Given the description of an element on the screen output the (x, y) to click on. 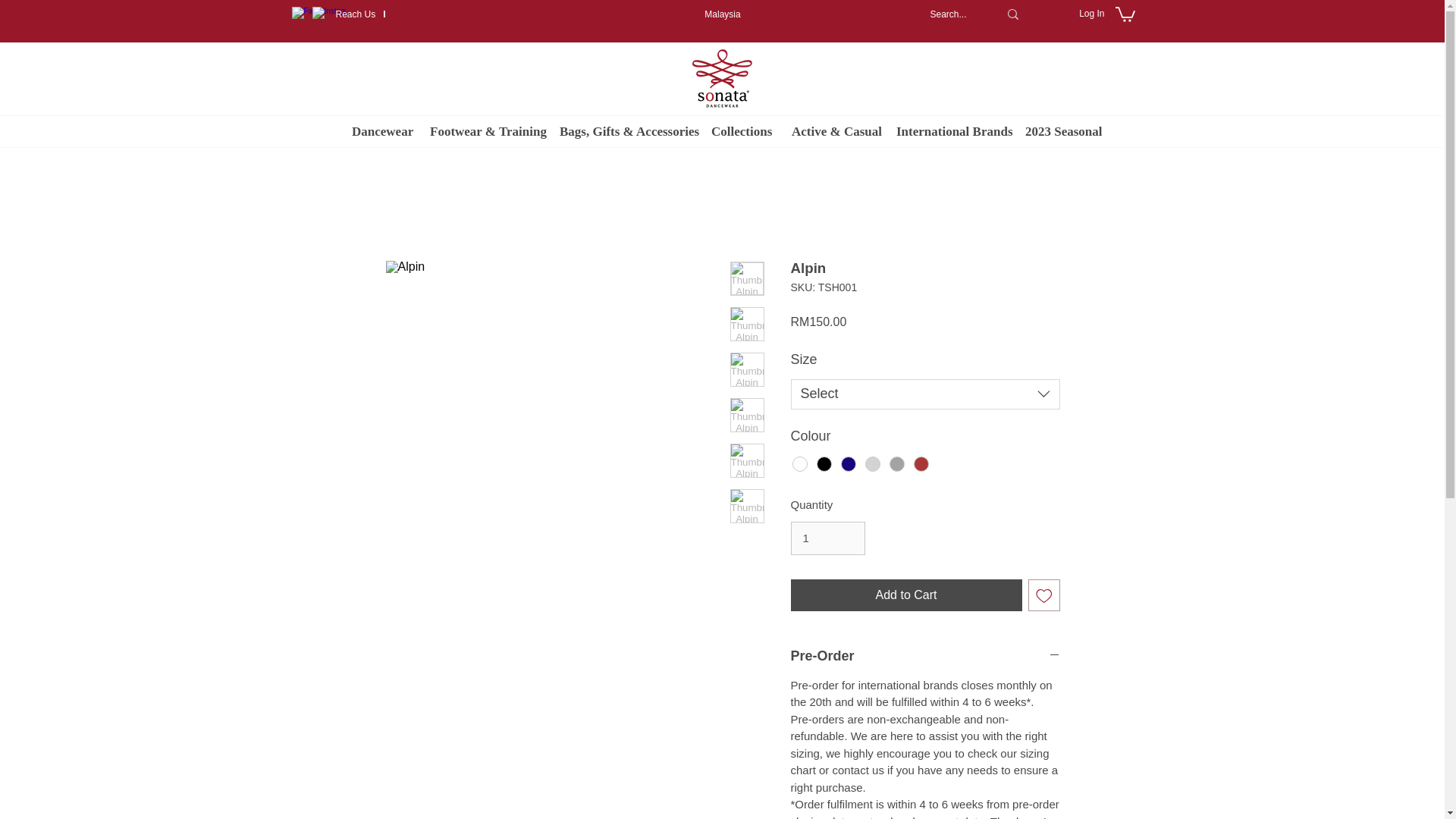
Reach Us (354, 14)
Collections (740, 131)
1 (827, 538)
Malaysia (721, 14)
Log In (1091, 14)
